Given the description of an element on the screen output the (x, y) to click on. 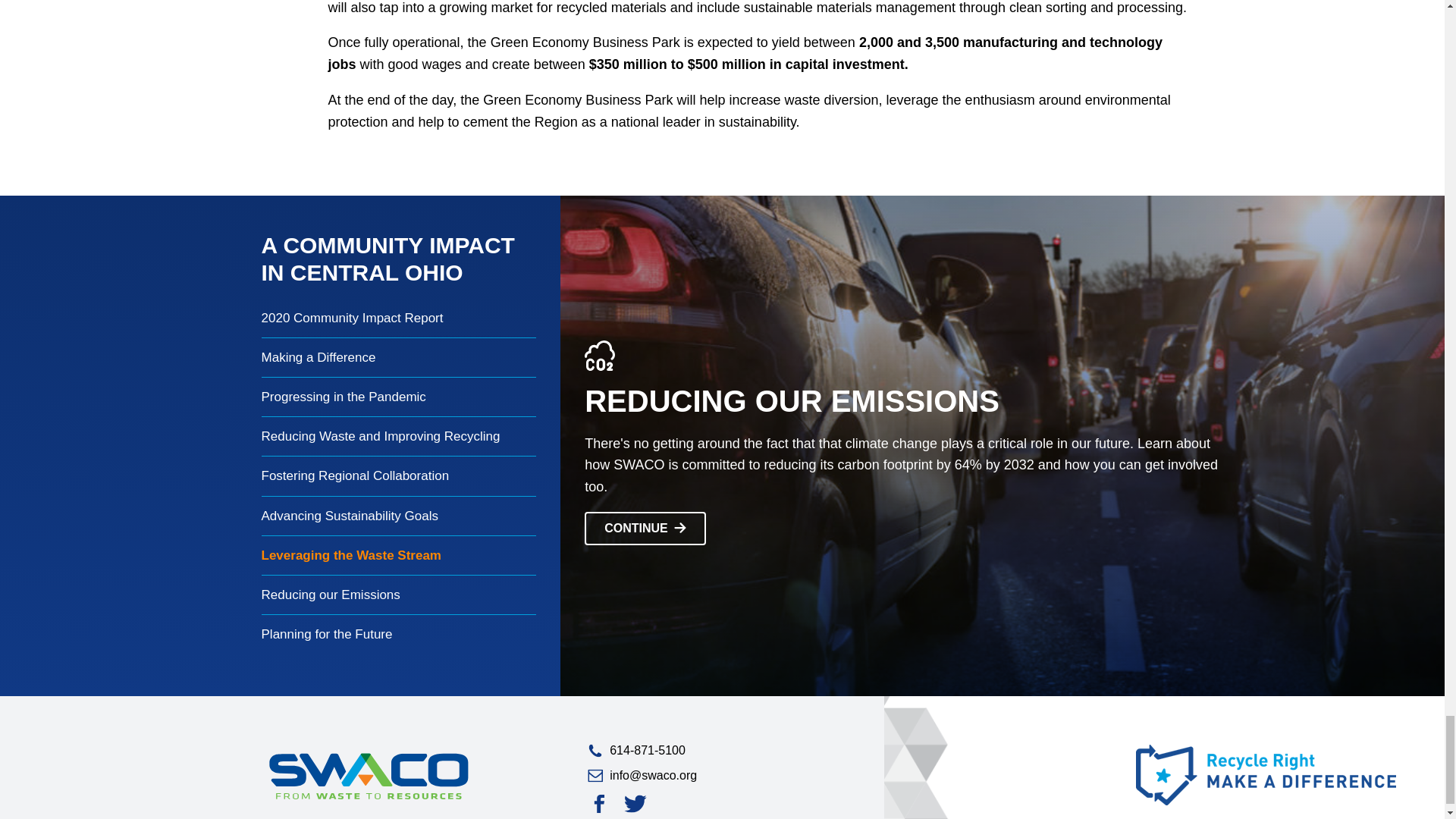
CONTINUE (645, 528)
Leveraging the Waste Stream (399, 555)
614-871-5100 (723, 750)
Reducing Waste and Improving Recycling (399, 435)
2020 Community Impact Report (399, 317)
Making a Difference (399, 357)
Twitter (635, 803)
Advancing Sustainability Goals (399, 516)
Planning for the Future (399, 634)
Reducing our Emissions (399, 594)
